Given the description of an element on the screen output the (x, y) to click on. 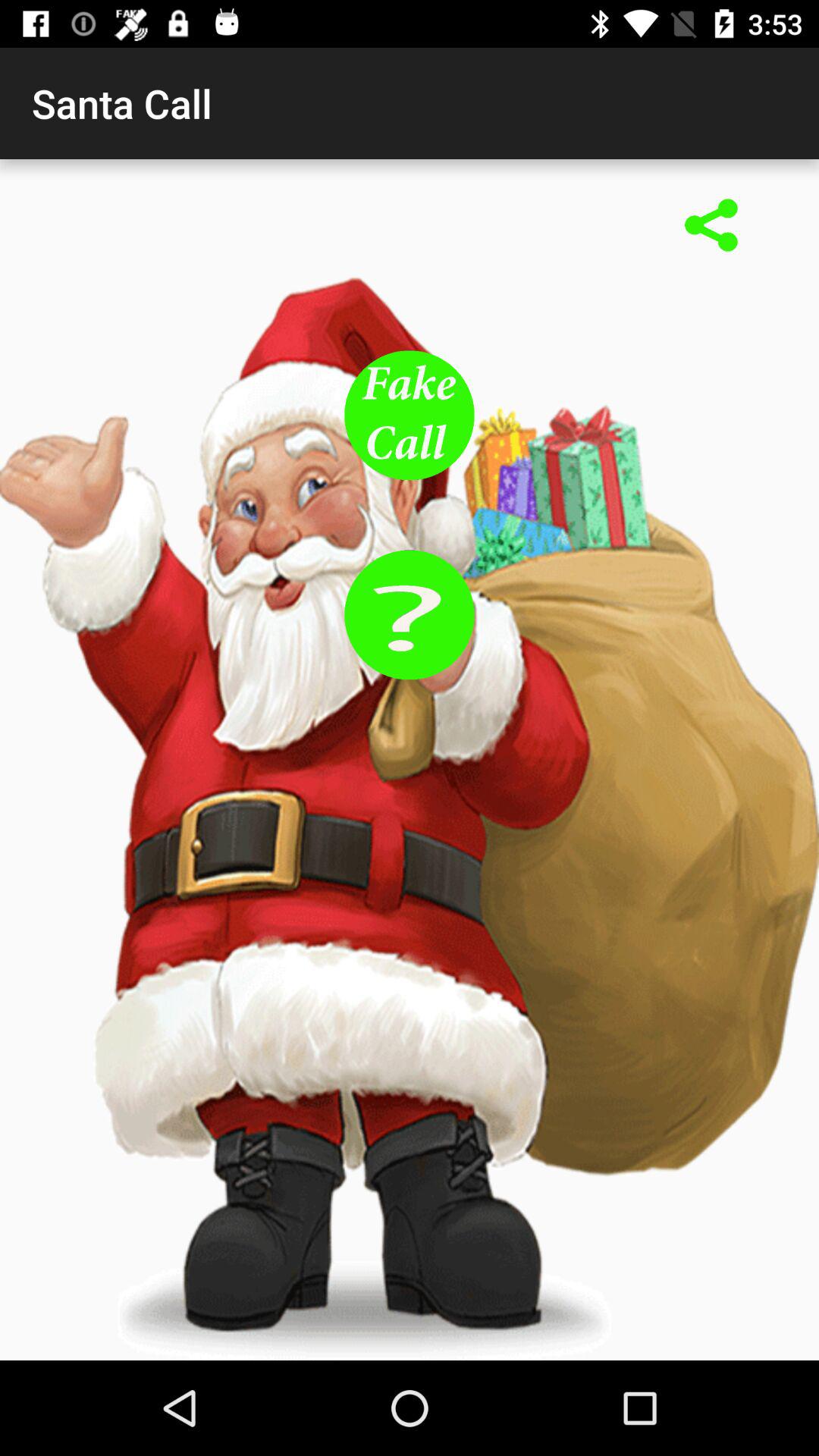
share (711, 226)
